Given the description of an element on the screen output the (x, y) to click on. 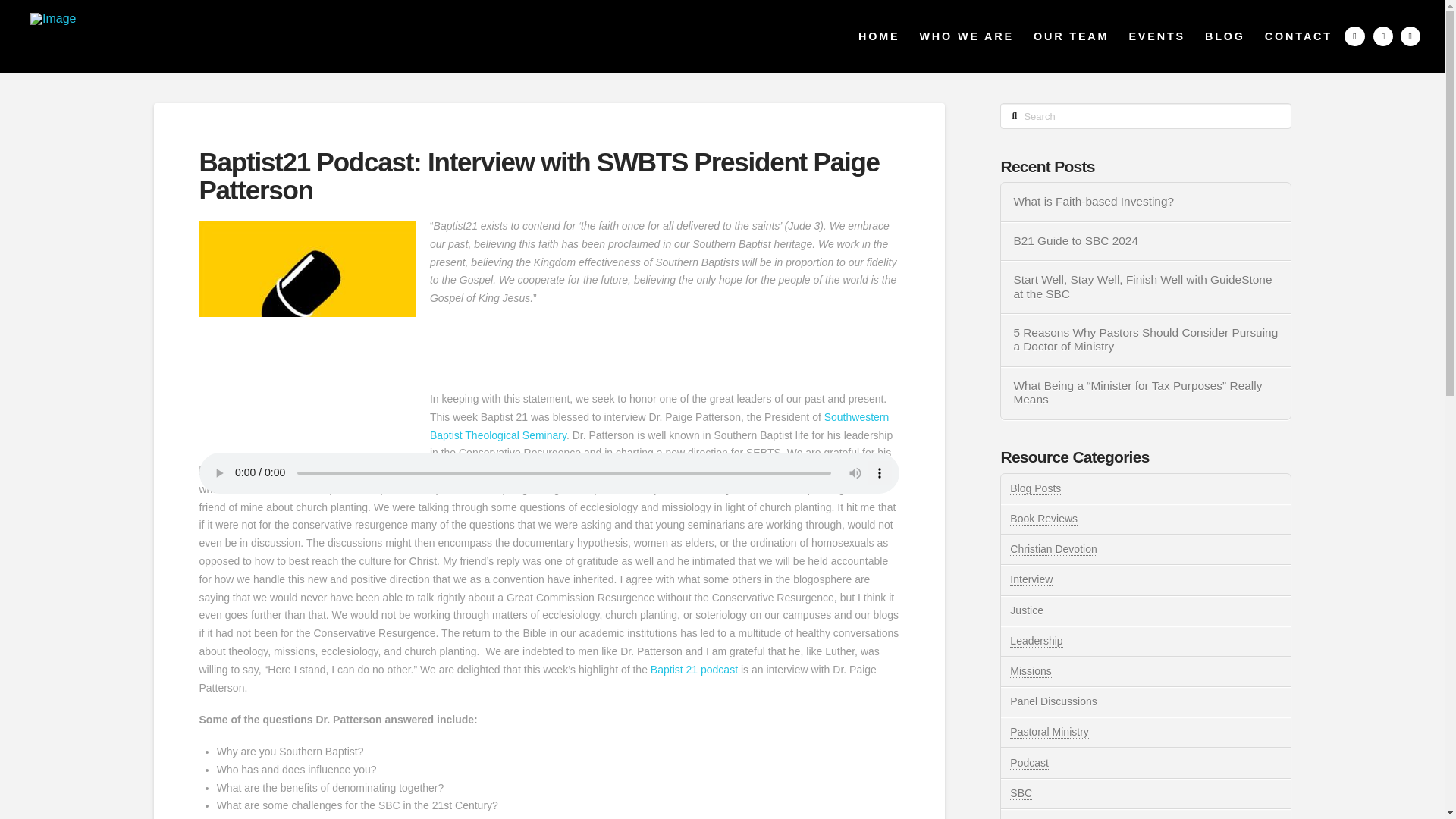
SBC (1021, 793)
Southwestern Baptist Theological Seminary (658, 426)
Baptist 21 podcast (694, 669)
Dr. Patterson (293, 489)
OUR TEAM (1070, 36)
Uncategorized (1044, 818)
Book Reviews (1043, 518)
Panel Discussions (1053, 701)
EVENTS (1155, 36)
